Given the description of an element on the screen output the (x, y) to click on. 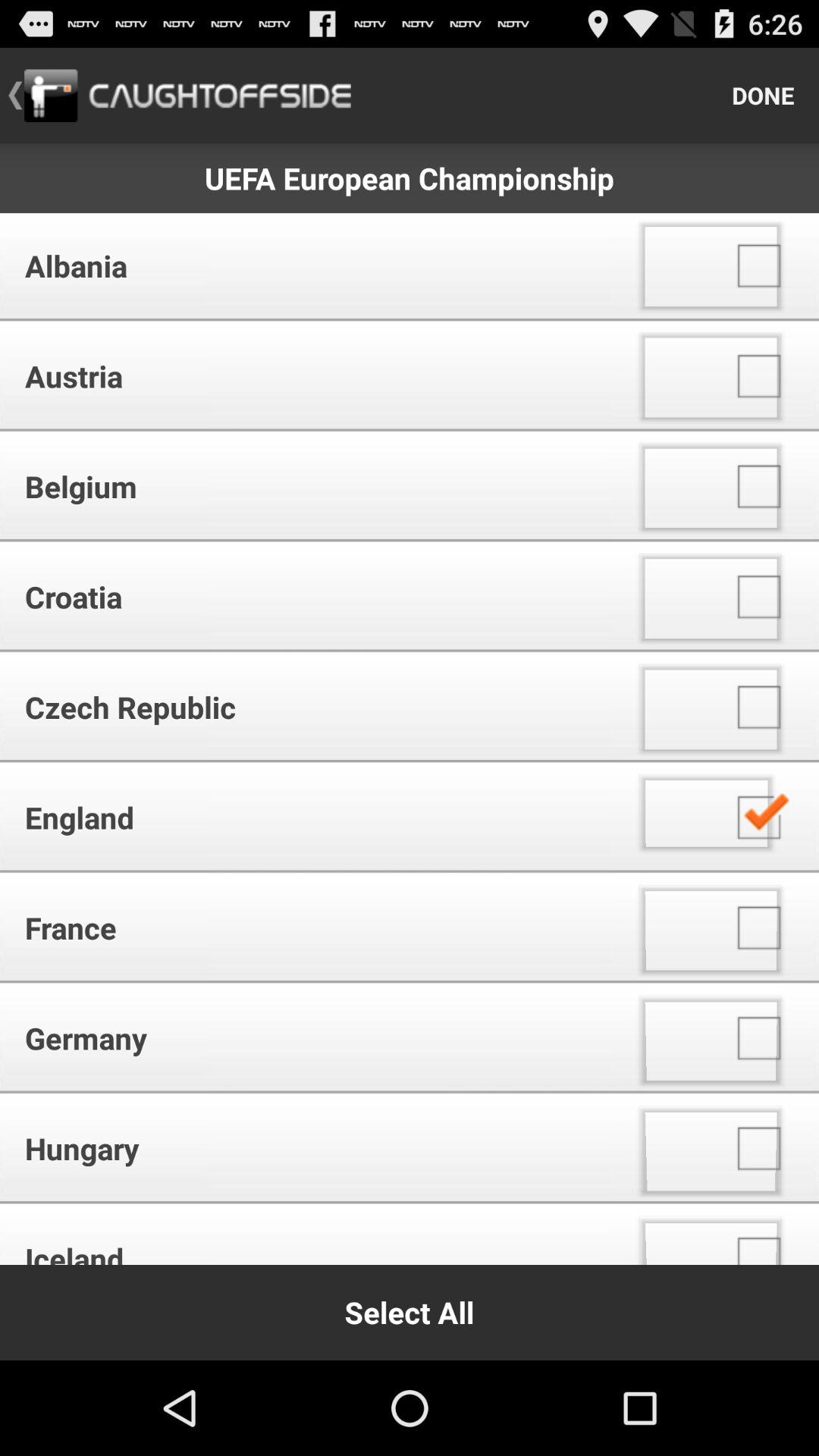
launch the austria item (311, 375)
